Given the description of an element on the screen output the (x, y) to click on. 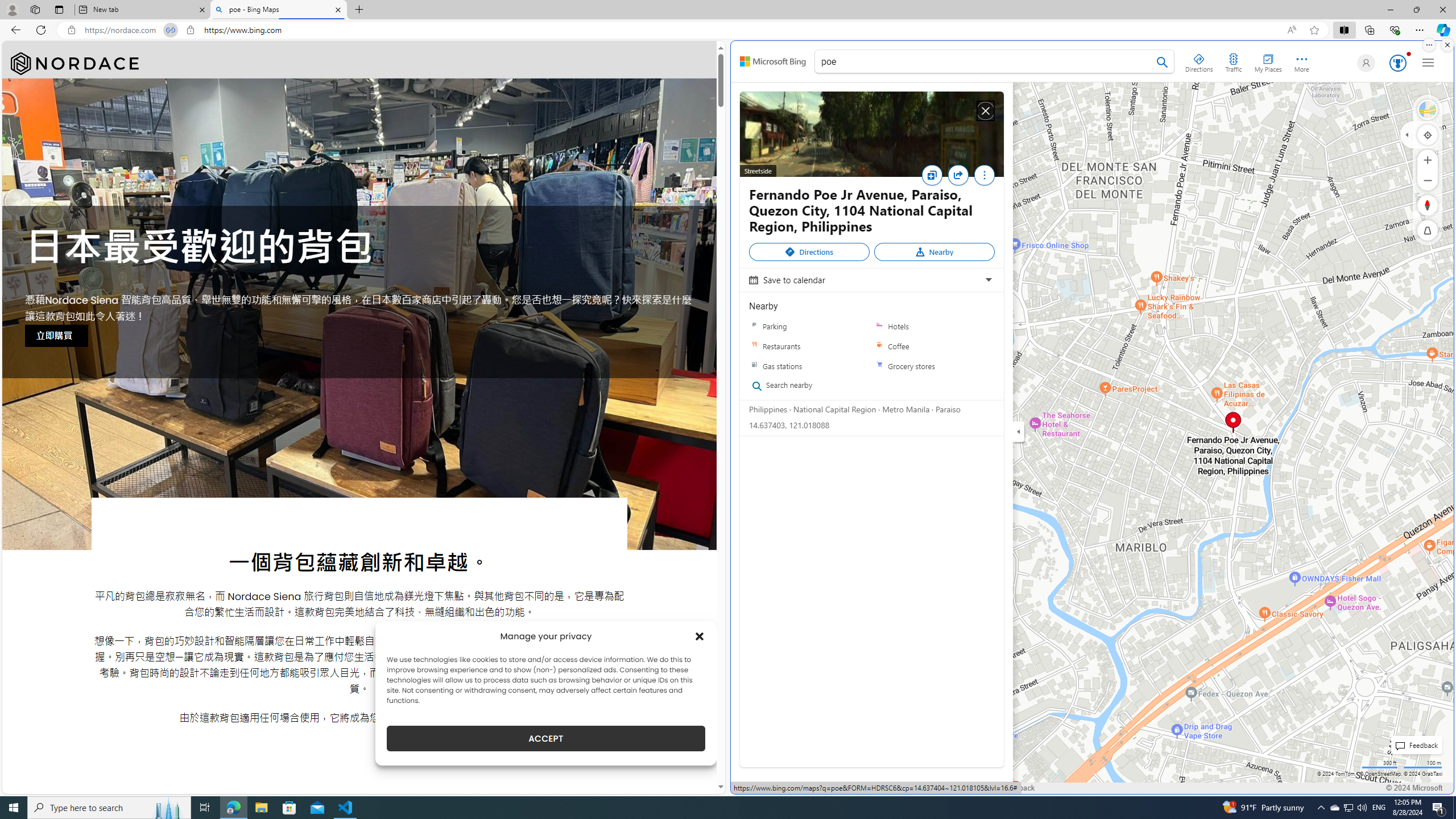
Close split screen. (1447, 45)
Nearby (933, 252)
Back (13, 29)
Parking (808, 326)
Refresh (40, 29)
Close tab (338, 9)
Nordace (74, 63)
Privacy and Cookies (772, 787)
Restaurants (808, 345)
More (984, 174)
Expand/Collapse Geochain (1406, 134)
Gas stations (754, 365)
